Given the description of an element on the screen output the (x, y) to click on. 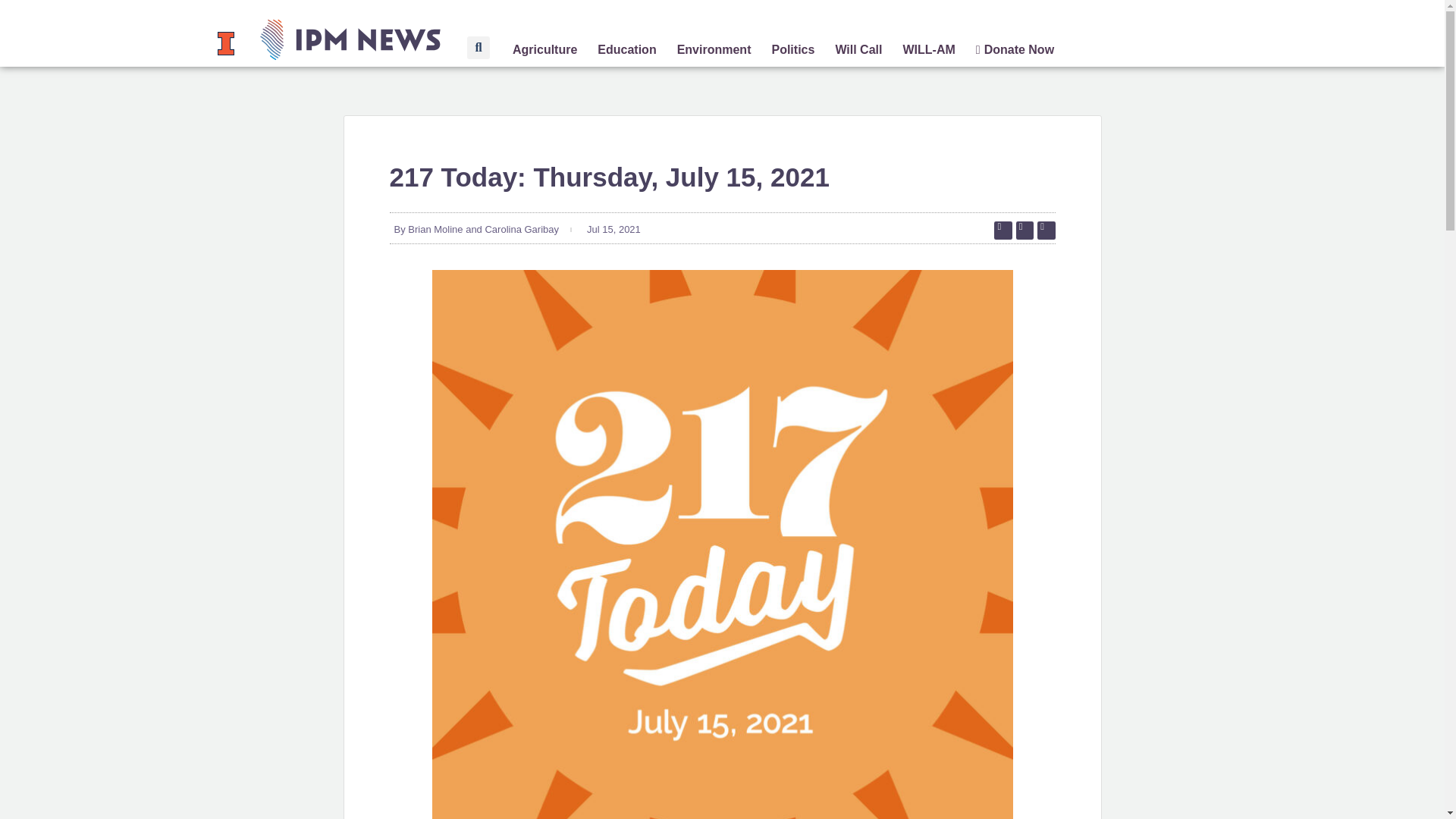
Environment (714, 49)
Will Call (858, 49)
Education (626, 49)
Jul 15, 2021 (611, 229)
Agriculture (544, 49)
Politics (792, 49)
WILL-AM (928, 49)
Donate Now (1014, 49)
